Given the description of an element on the screen output the (x, y) to click on. 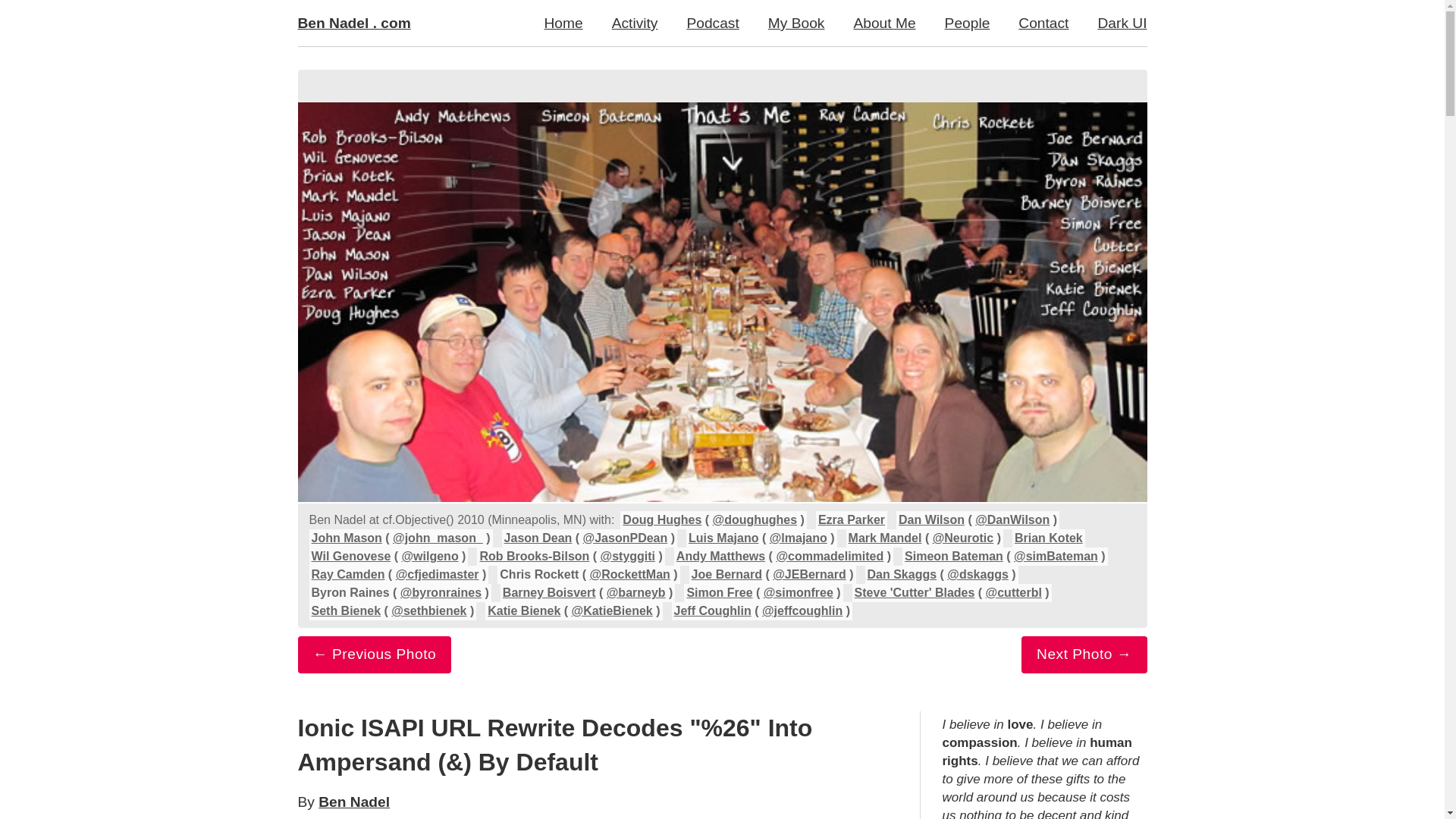
About Me (884, 22)
Doug Hughes (662, 519)
The amazing people who rock Ben Nadel's world on the daily! (967, 22)
People (967, 22)
Contact (1043, 22)
Learn more about Ben Nadel, Co-founder of InVision App, Inc. (884, 22)
Activity (634, 22)
Ezra Parker (851, 519)
Jason Dean (537, 537)
Ray Camden (347, 574)
My Book (797, 22)
Contact Ben Nadel with questions about web development. (1043, 22)
Podcast (711, 22)
Rob Brooks-Bilson (534, 555)
Ben Nadel . com (361, 22)
